Given the description of an element on the screen output the (x, y) to click on. 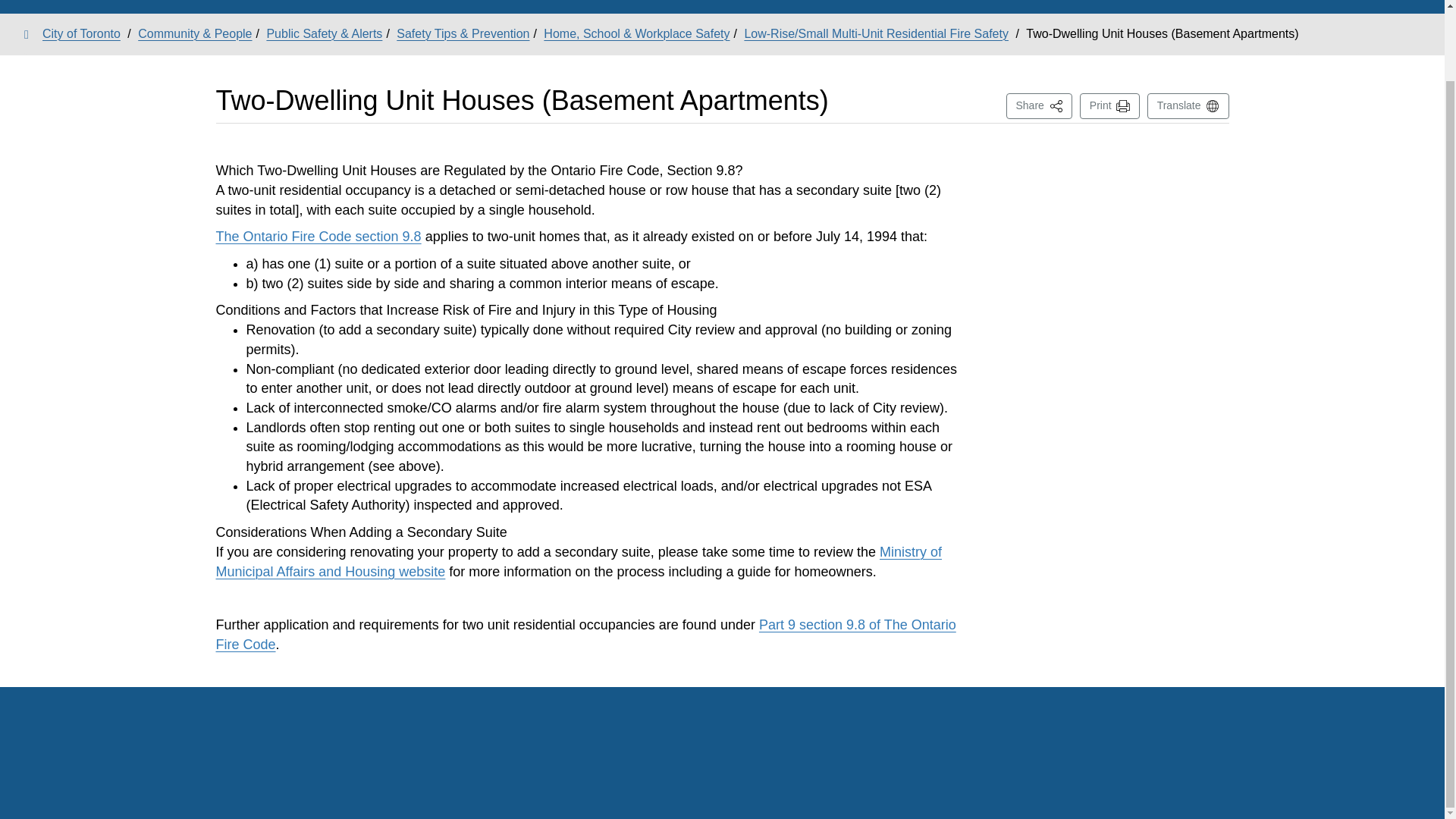
The Ontario Fire Code section 9.8 (317, 236)
Translate (1187, 105)
Print (1110, 105)
City of Toronto (72, 33)
Ministry of Municipal Affairs and Housing website (1038, 105)
Part 9 section 9.8 of The Ontario Fire Code (578, 561)
